Given the description of an element on the screen output the (x, y) to click on. 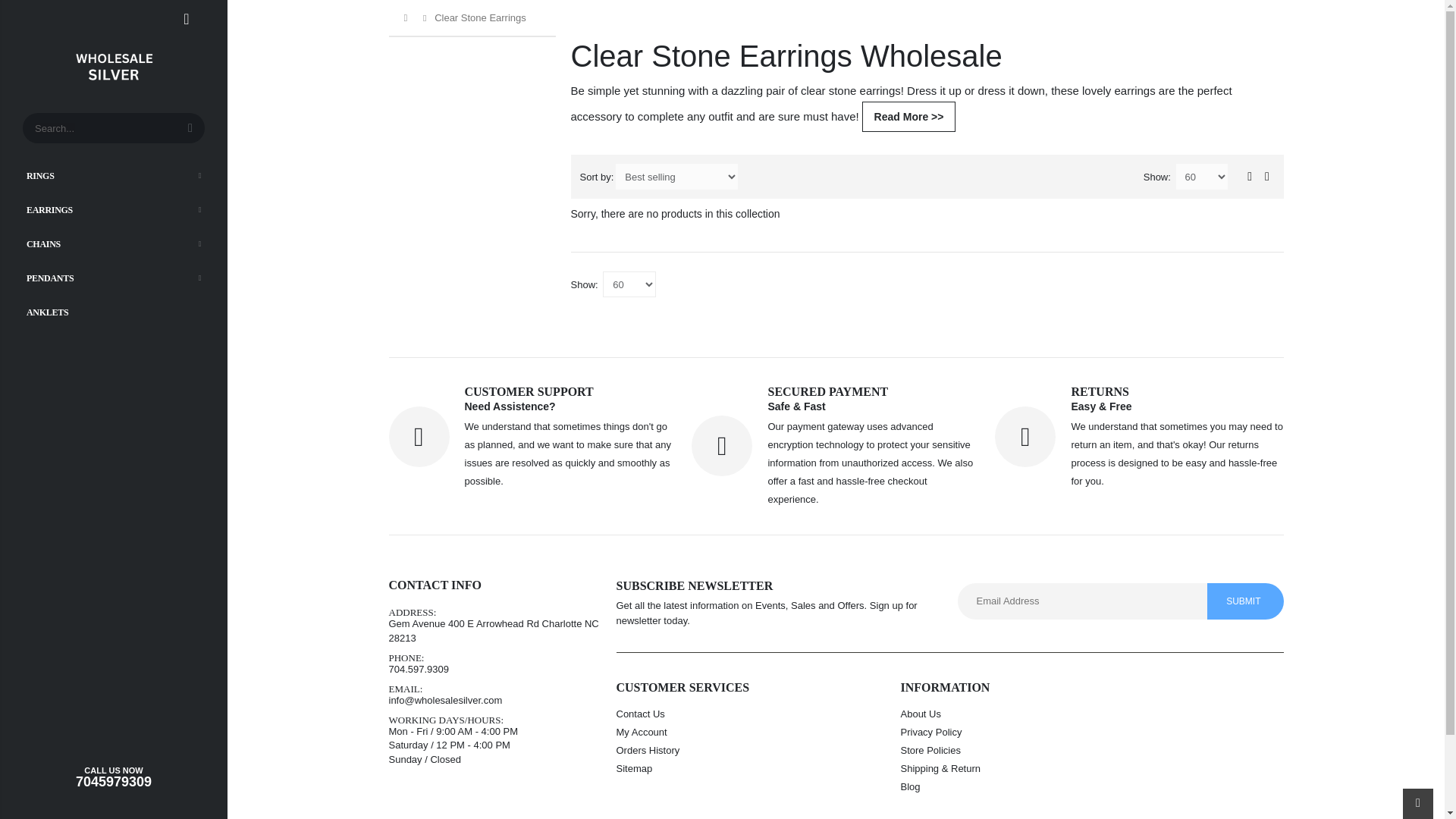
RINGS (114, 174)
PENDANTS (114, 277)
ANKLETS (114, 311)
Search (190, 128)
CHAINS (114, 243)
EARRINGS (114, 209)
